Given the description of an element on the screen output the (x, y) to click on. 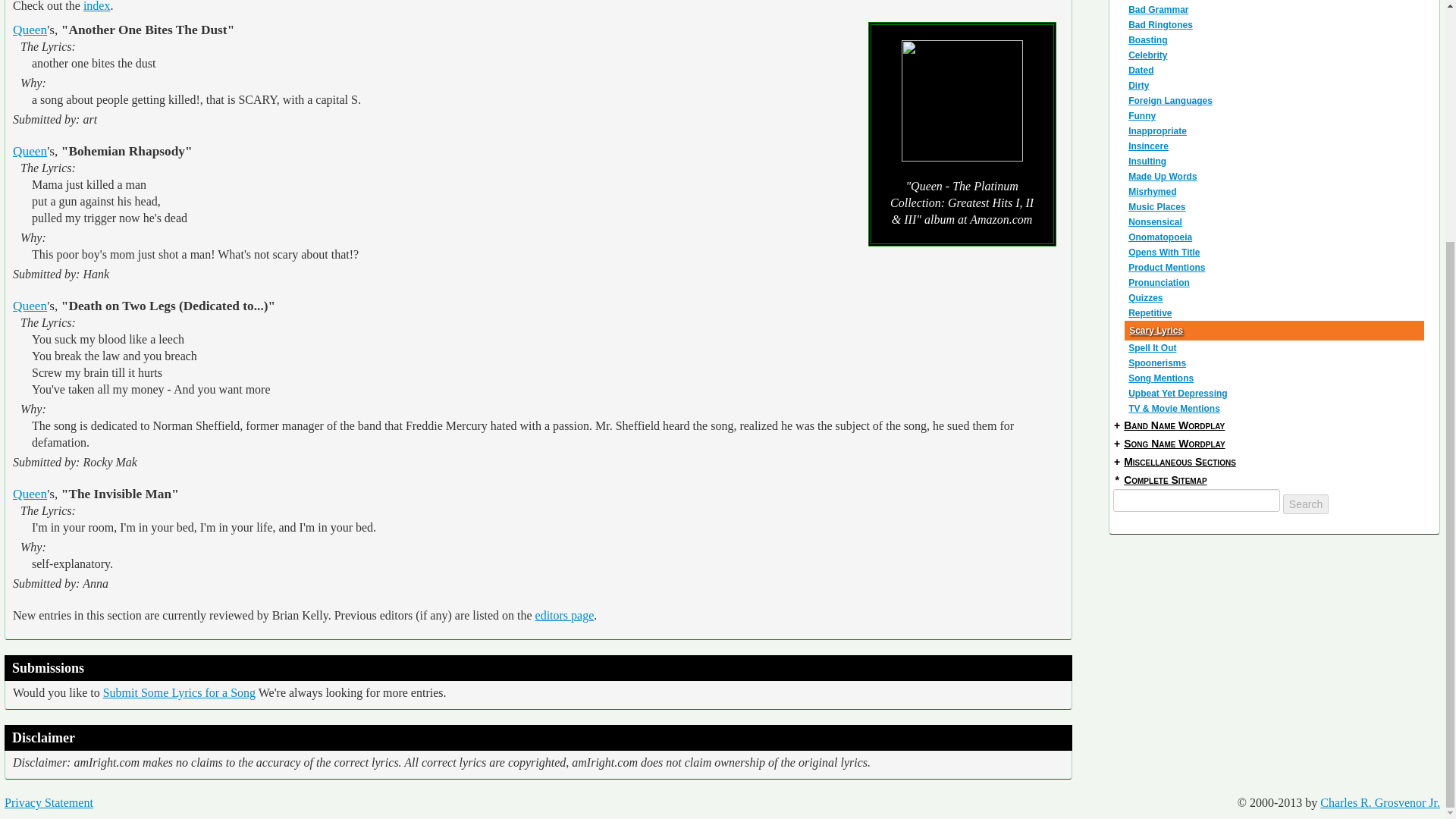
Submit Some Lyrics for a Song (179, 692)
Product Mentions (1275, 267)
Music Places (1275, 206)
editors page (564, 615)
Misrhymed (1275, 191)
Pronunciation (1275, 282)
Song lyrics for Queen (29, 151)
Queen (29, 151)
Search (1304, 503)
Song lyrics for Queen (29, 29)
